Given the description of an element on the screen output the (x, y) to click on. 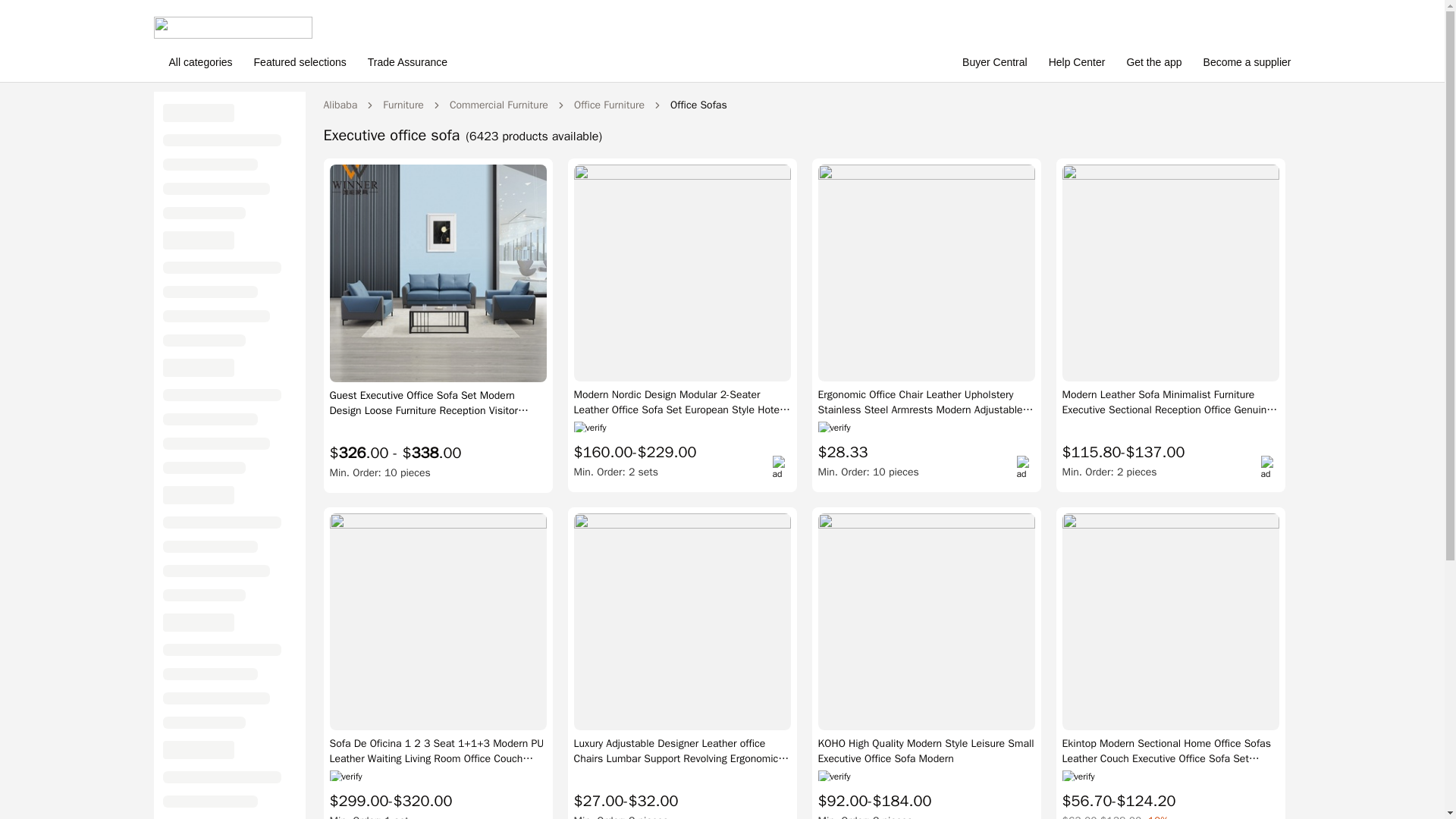
Alibaba (339, 105)
Furniture (402, 105)
Commercial Furniture (498, 105)
Office Furniture (609, 105)
